Given the description of an element on the screen output the (x, y) to click on. 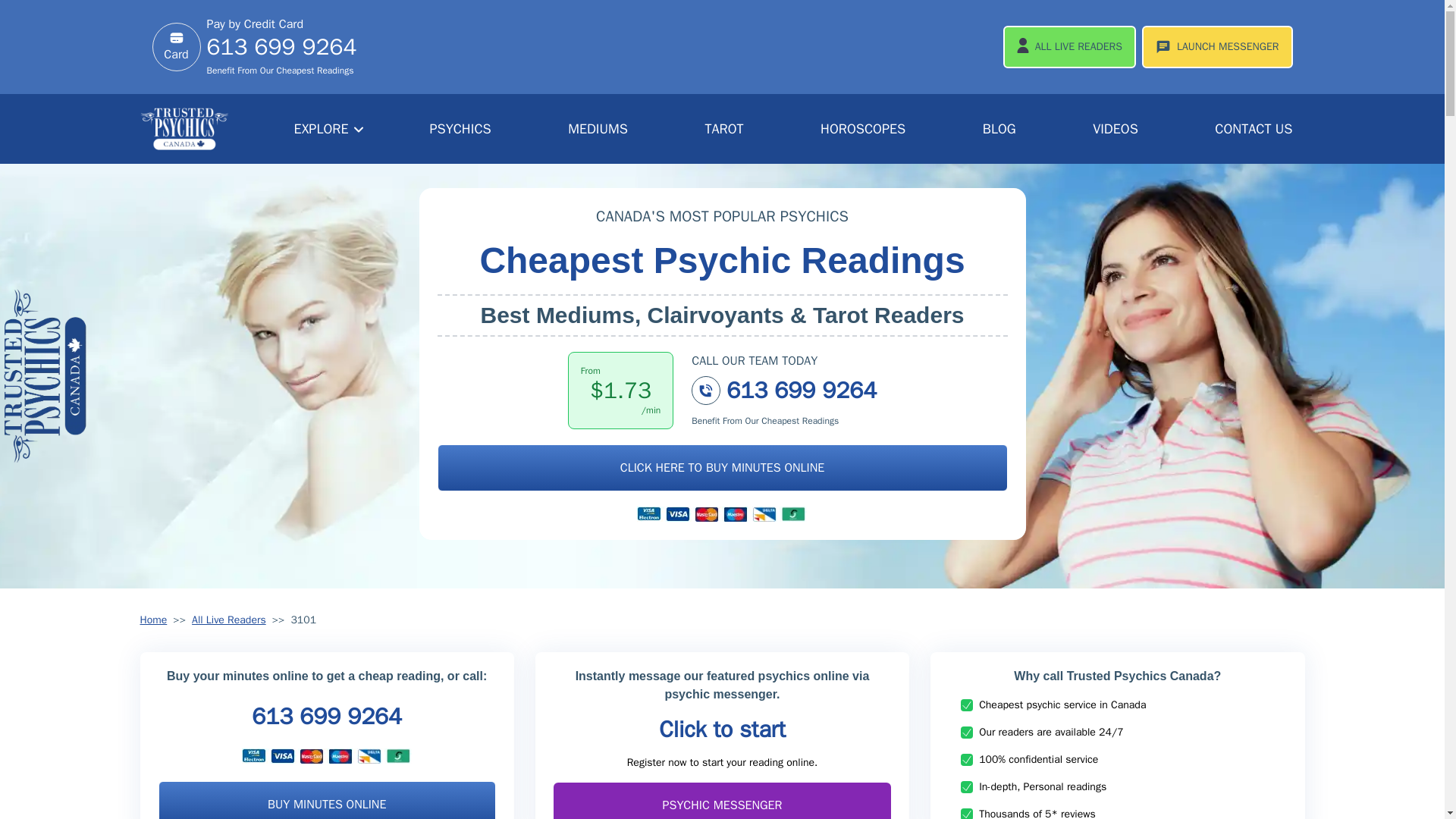
VIDEOS (1115, 128)
PSYCHIC MESSENGER (722, 800)
CONTACT US (1253, 128)
613 699 9264 (783, 401)
BLOG (999, 128)
Click to start (722, 728)
MEDIUMS (598, 128)
EXPLORE (329, 128)
613 699 9264 (326, 716)
LAUNCH MESSENGER (1216, 46)
All Live Readers (229, 620)
PSYCHICS (459, 128)
TAROT (724, 128)
BUY MINUTES ONLINE (326, 800)
HOROSCOPES (862, 128)
